Given the description of an element on the screen output the (x, y) to click on. 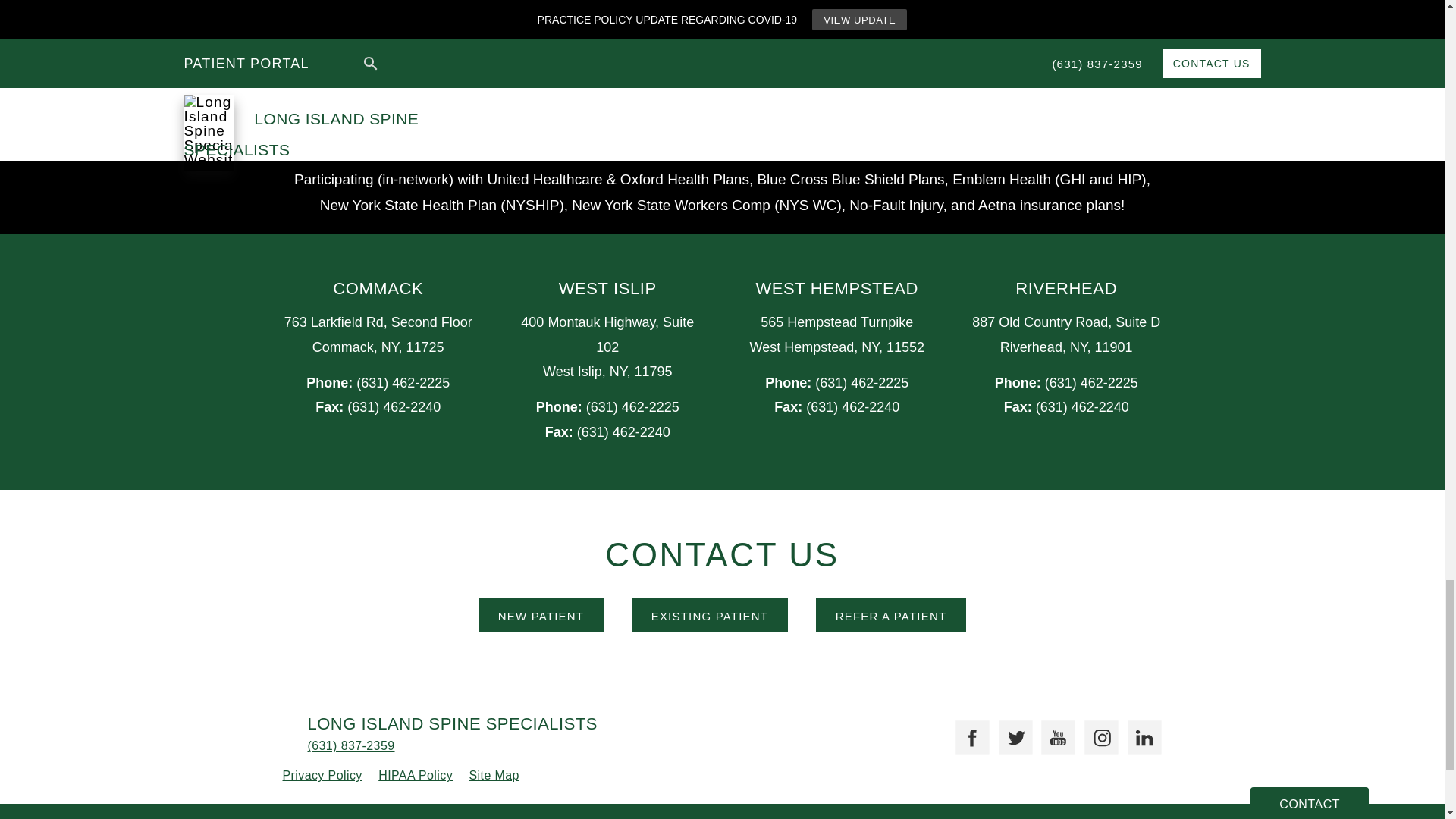
Long Island Spine Specialists on Linkedin (1138, 731)
Long Island Spine Specialists on Twitter (1009, 731)
Long Island Spine Specialists on Instagram (1095, 731)
Long Island Spine Specialists on Facebook (965, 731)
Long Island Spine Specialists on Youtube (1053, 731)
